Given the description of an element on the screen output the (x, y) to click on. 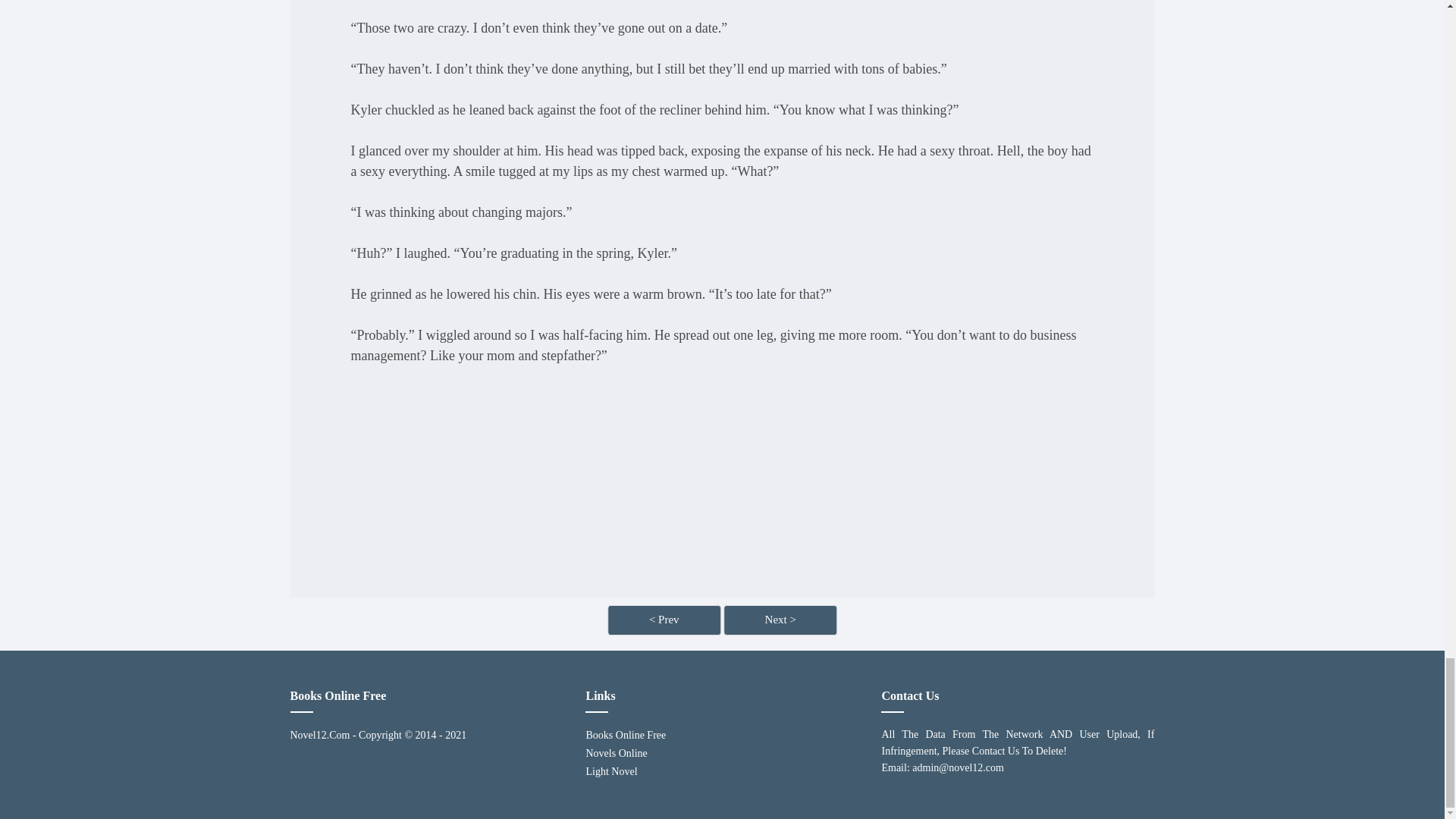
Novels Online (722, 753)
Novels Online (722, 753)
Light Novel (722, 771)
Books Online Free (722, 735)
Books Online Free (722, 735)
Novel12.Com (319, 735)
Light Novel (722, 771)
